Given the description of an element on the screen output the (x, y) to click on. 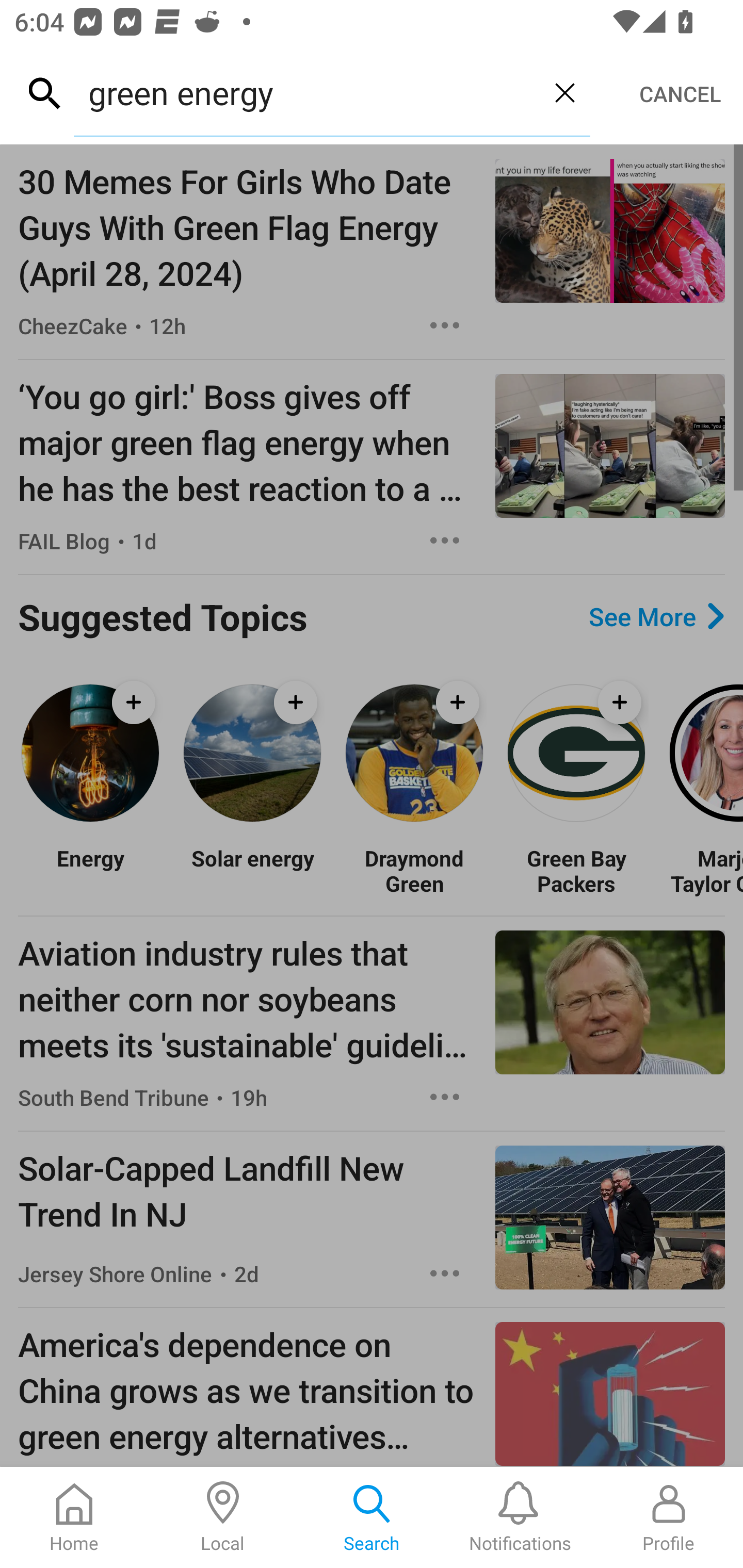
Clear query (564, 92)
CANCEL (680, 93)
green energy (306, 92)
Options (444, 325)
Options (444, 540)
See More (656, 615)
Energy (89, 870)
Solar energy (251, 870)
Draymond Green (413, 870)
Green Bay Packers (575, 870)
Marjorie Taylor Greene (704, 870)
Options (444, 1096)
Options (444, 1273)
Home (74, 1517)
Local (222, 1517)
Notifications (519, 1517)
Profile (668, 1517)
